Given the description of an element on the screen output the (x, y) to click on. 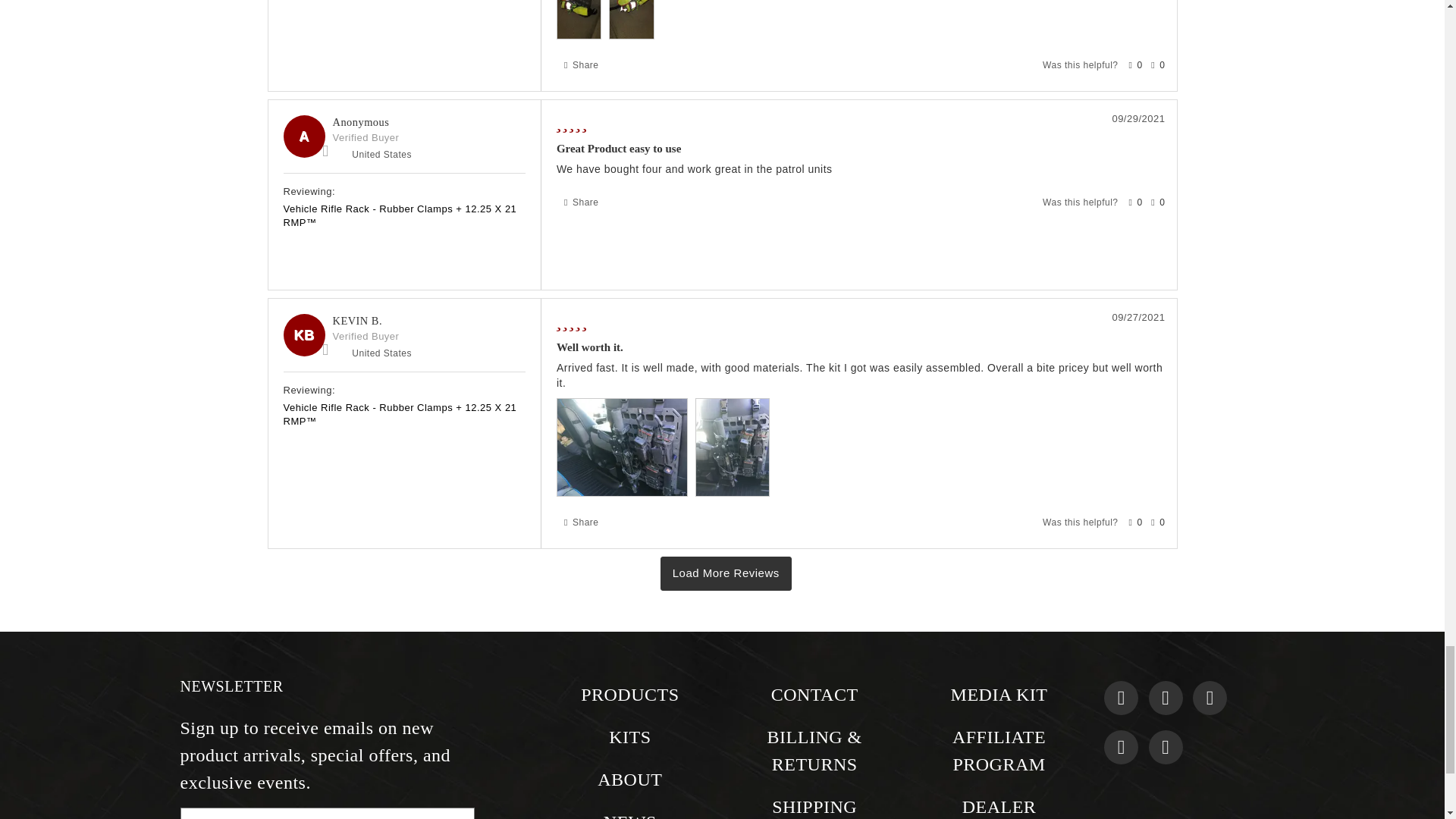
Grey Man Tactical on Instagram (1165, 697)
Grey Man Tactical on YouTube (1165, 747)
Grey Man Tactical on Twitter (1209, 697)
Grey Man Tactical on Pinterest (1120, 747)
Grey Man Tactical on Facebook (1120, 697)
